Given the description of an element on the screen output the (x, y) to click on. 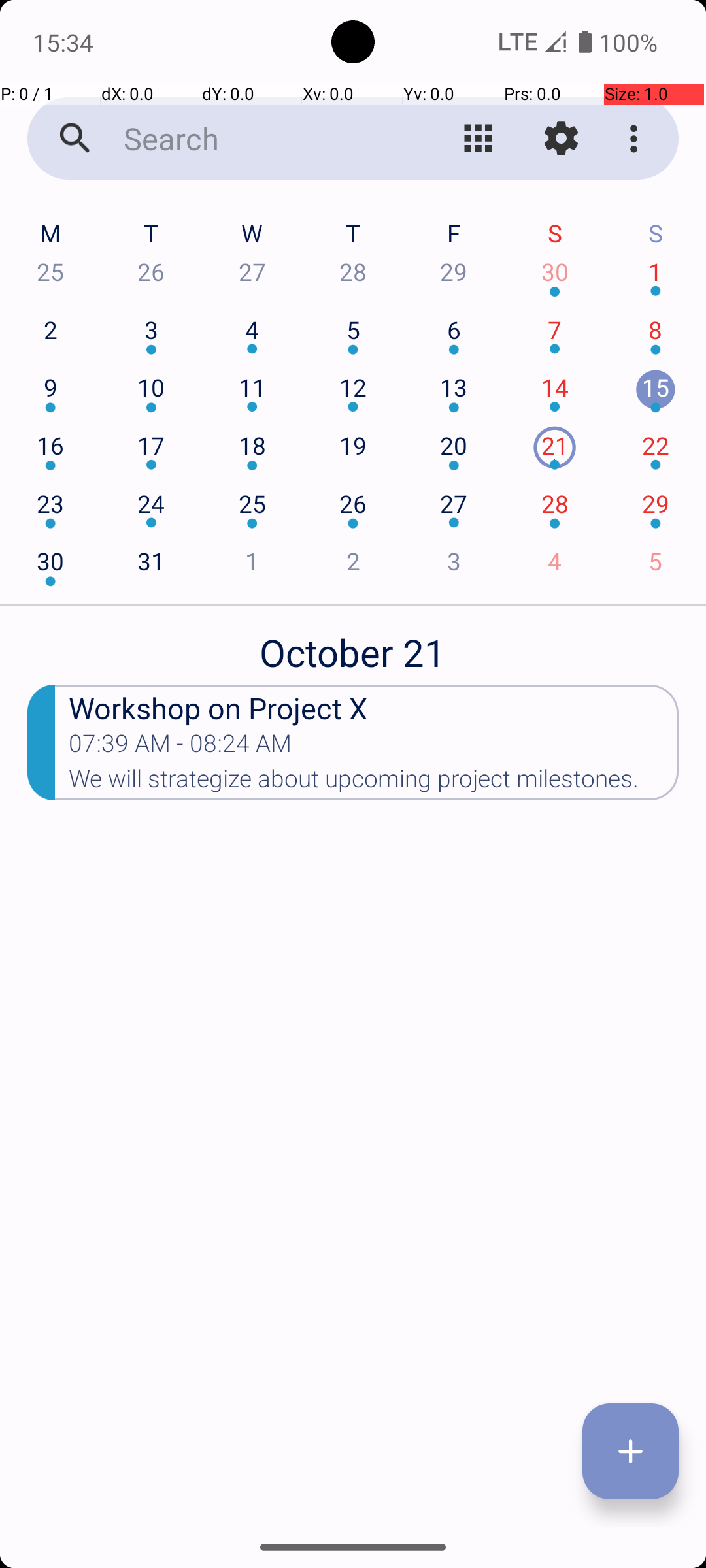
October 21 Element type: android.widget.TextView (352, 644)
07:39 AM - 08:24 AM Element type: android.widget.TextView (179, 747)
We will strategize about upcoming project milestones. Element type: android.widget.TextView (373, 782)
